Given the description of an element on the screen output the (x, y) to click on. 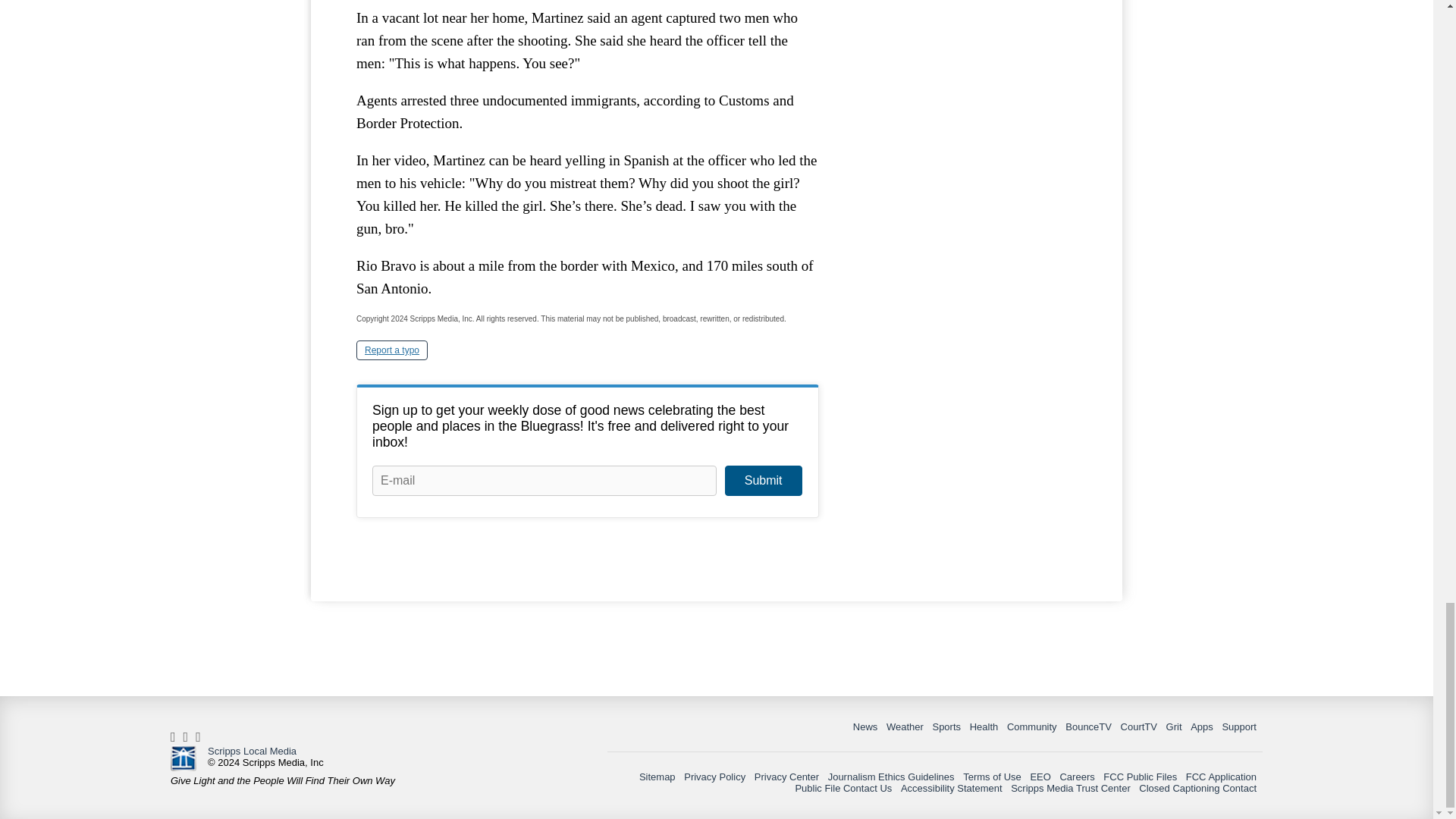
Submit (763, 481)
